Given the description of an element on the screen output the (x, y) to click on. 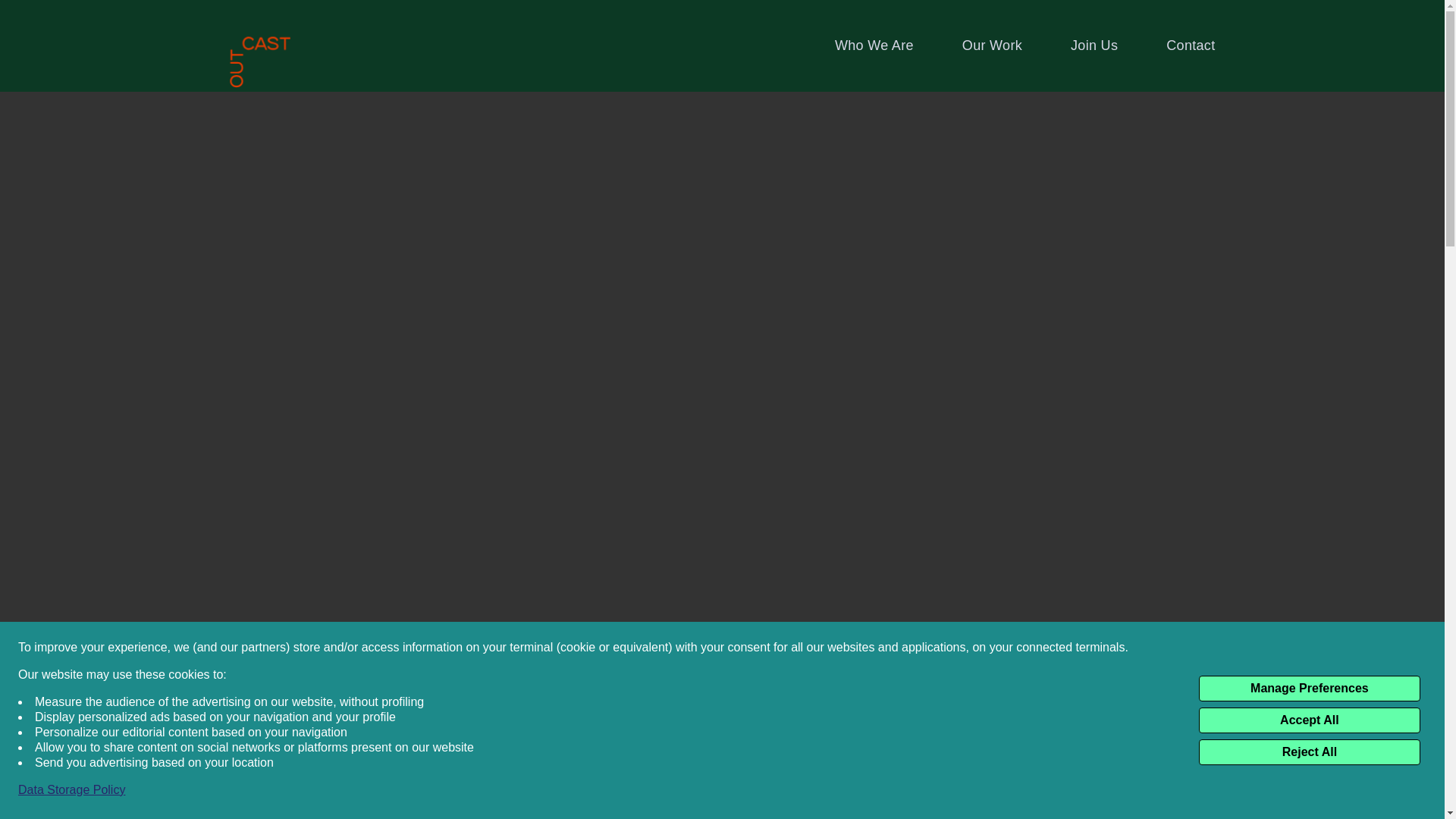
Accept All (1309, 720)
Our Work (992, 45)
Data Storage Policy (71, 789)
Who We Are (874, 45)
Contact (1190, 45)
Reject All (1309, 751)
Manage Preferences (1309, 688)
Join Us (1094, 45)
